Given the description of an element on the screen output the (x, y) to click on. 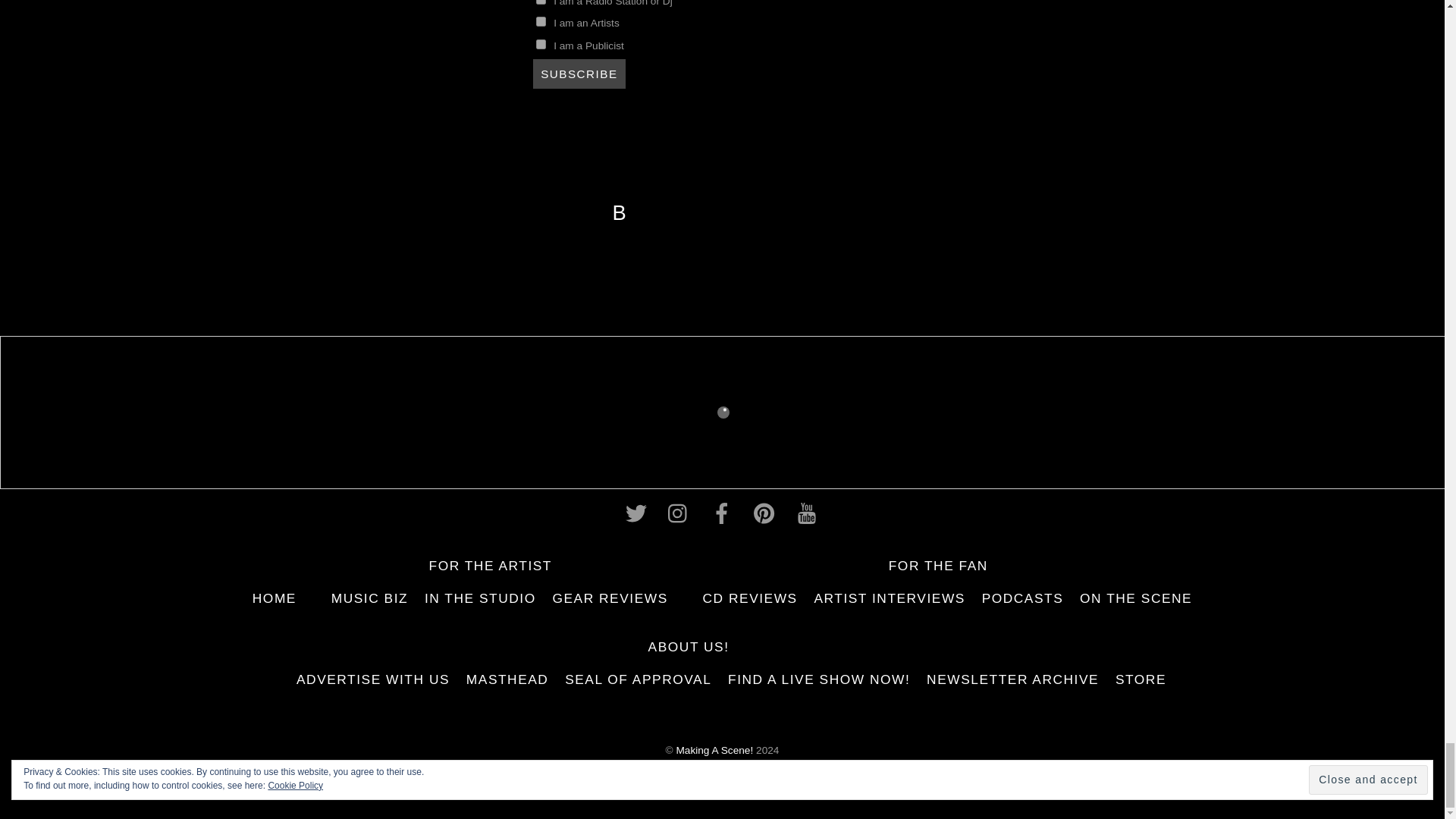
9 (539, 21)
3 (539, 2)
10 (539, 44)
Subscribe (579, 72)
